Given the description of an element on the screen output the (x, y) to click on. 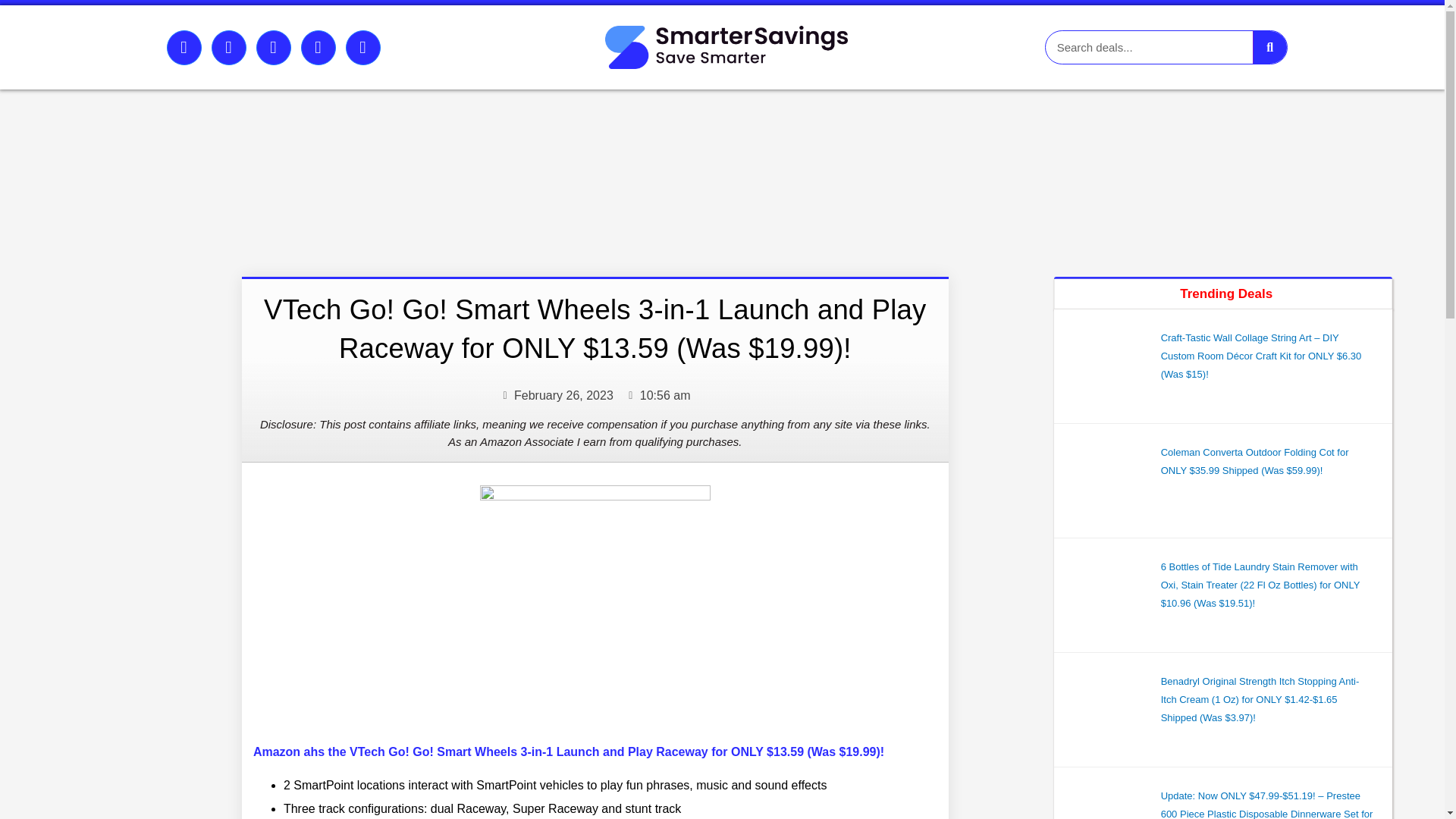
Search (1269, 47)
February 26, 2023 (555, 395)
Advertisement (429, 168)
Search (1148, 47)
